Given the description of an element on the screen output the (x, y) to click on. 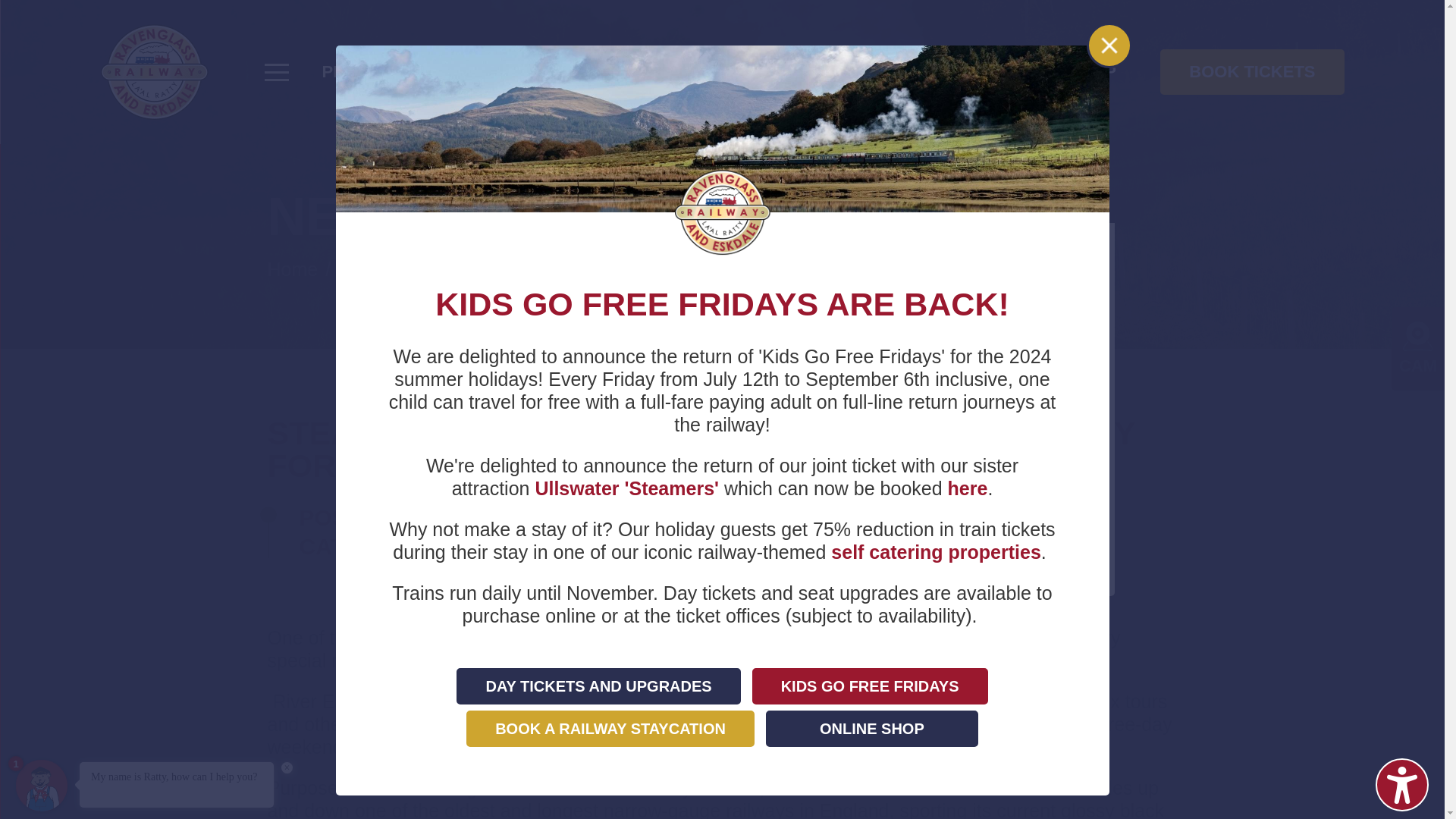
GIFT EXPERIENCES (957, 71)
Webcam (1417, 336)
PLAN YOUR VISIT (397, 71)
STAYING OVER (779, 71)
Close (1108, 44)
EVENTS (650, 71)
SHOP (1092, 71)
GROUPS (546, 71)
